Given the description of an element on the screen output the (x, y) to click on. 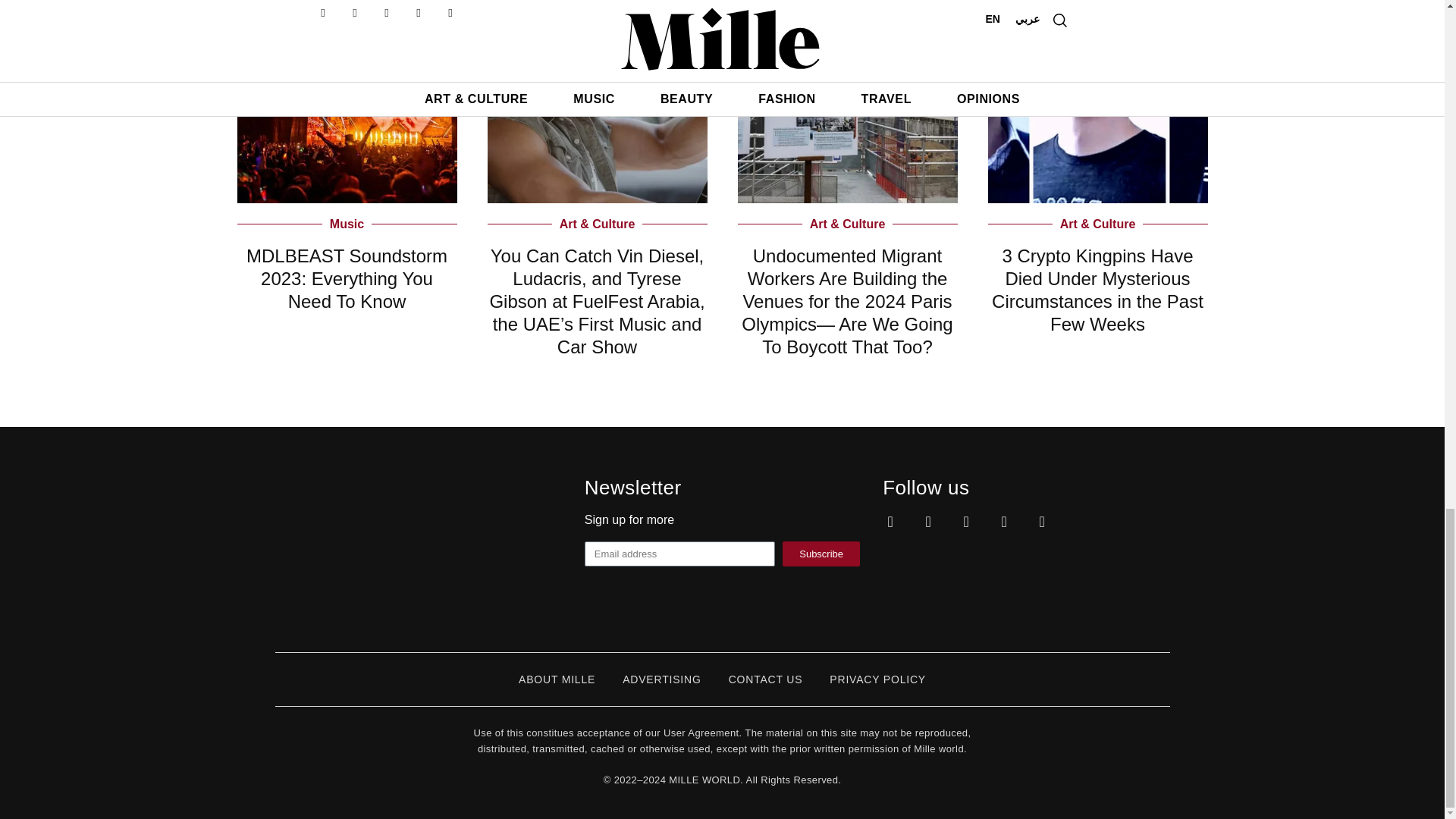
crypto3 (1097, 101)
mdlbest (346, 101)
Vin Diesel (596, 101)
